Given the description of an element on the screen output the (x, y) to click on. 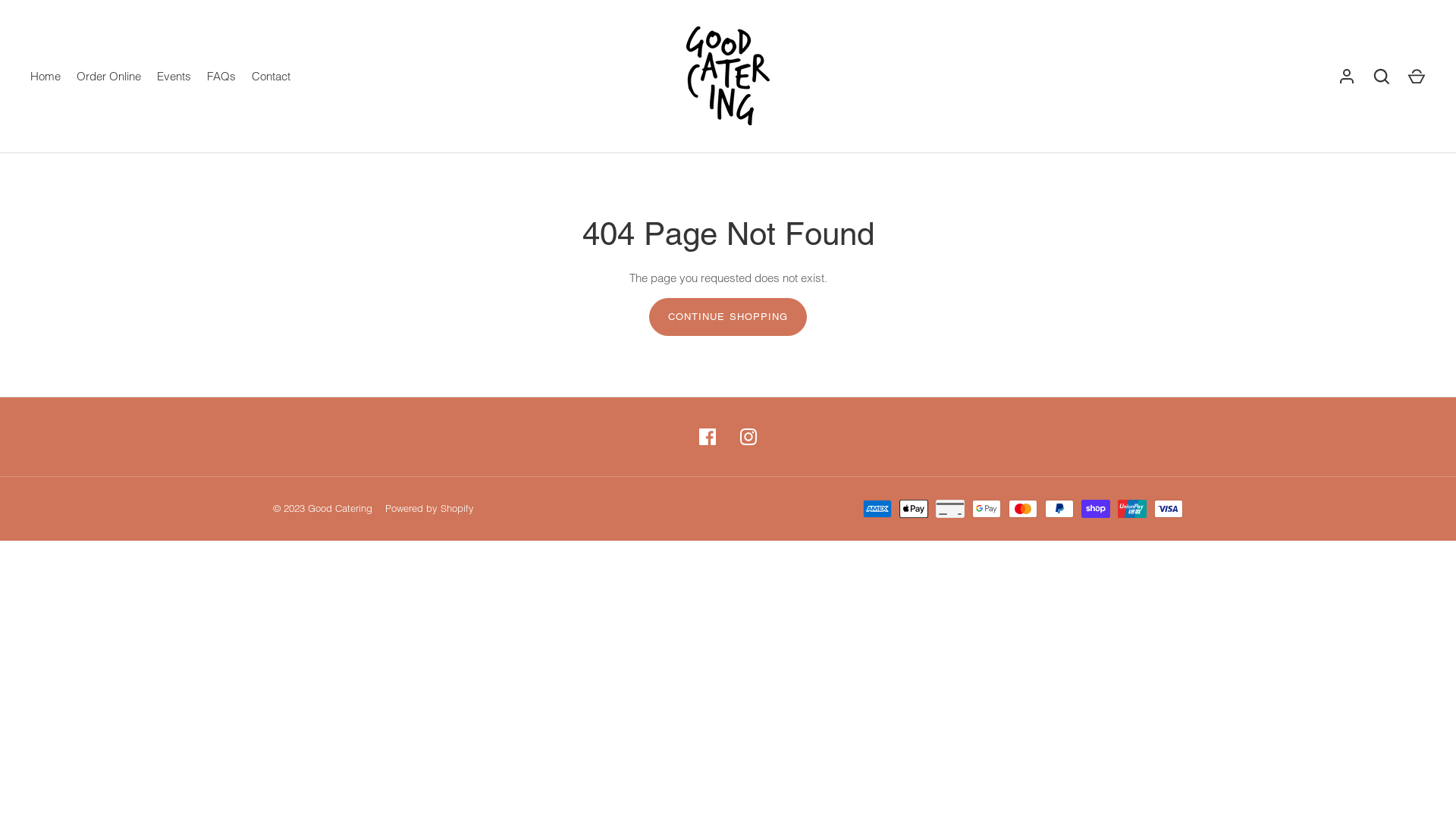
Events Element type: text (173, 76)
Order Online Element type: text (108, 76)
Powered by Shopify Element type: text (429, 508)
FAQs Element type: text (220, 76)
CONTINUE SHOPPING Element type: text (727, 316)
Home Element type: text (45, 76)
Contact Element type: text (271, 76)
